Given the description of an element on the screen output the (x, y) to click on. 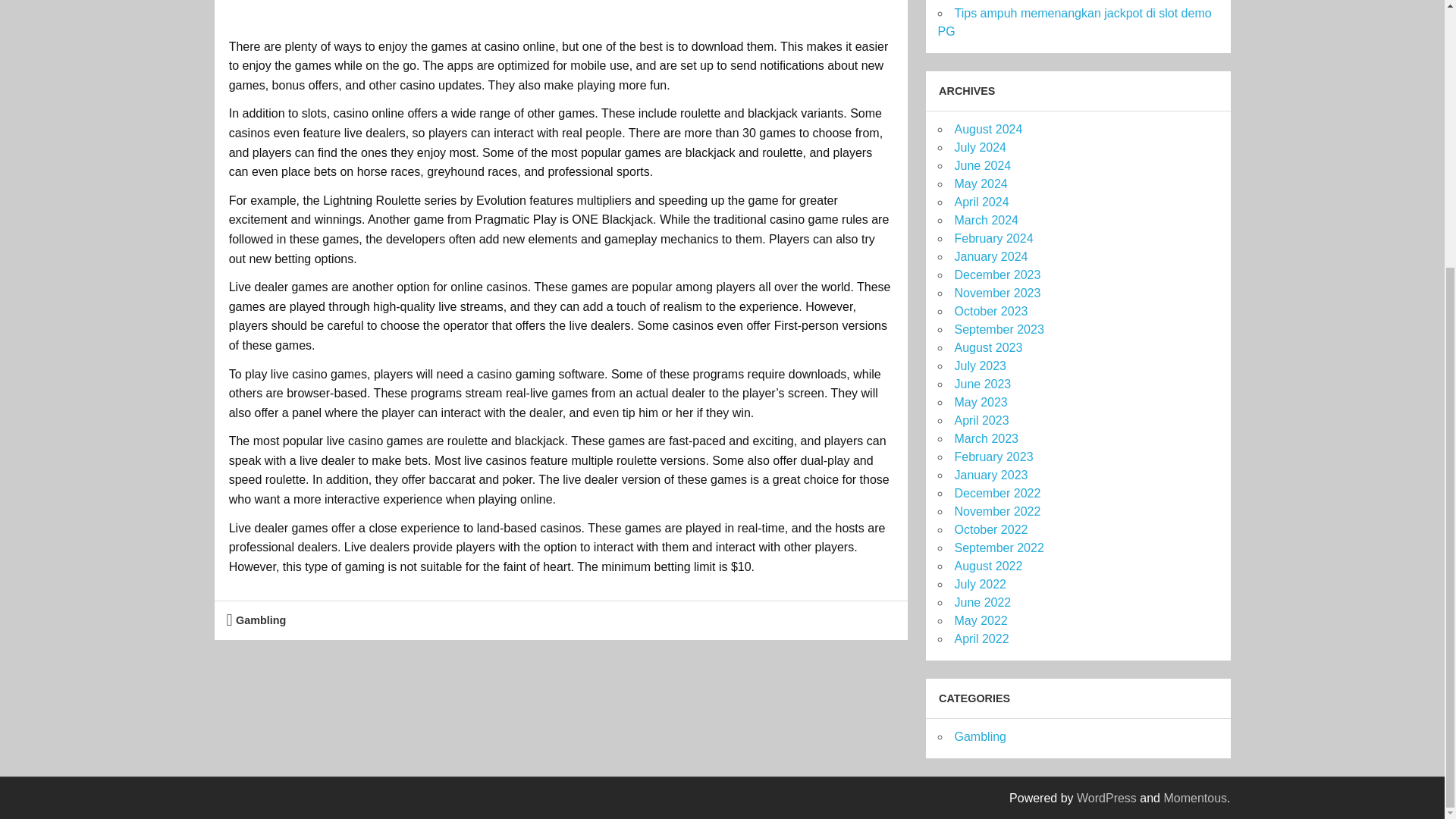
June 2023 (981, 383)
July 2022 (979, 584)
June 2024 (981, 164)
August 2023 (987, 347)
Gambling (260, 620)
December 2022 (997, 492)
September 2022 (998, 547)
August 2022 (987, 565)
Momentous WordPress Theme (1195, 797)
February 2023 (992, 456)
